Given the description of an element on the screen output the (x, y) to click on. 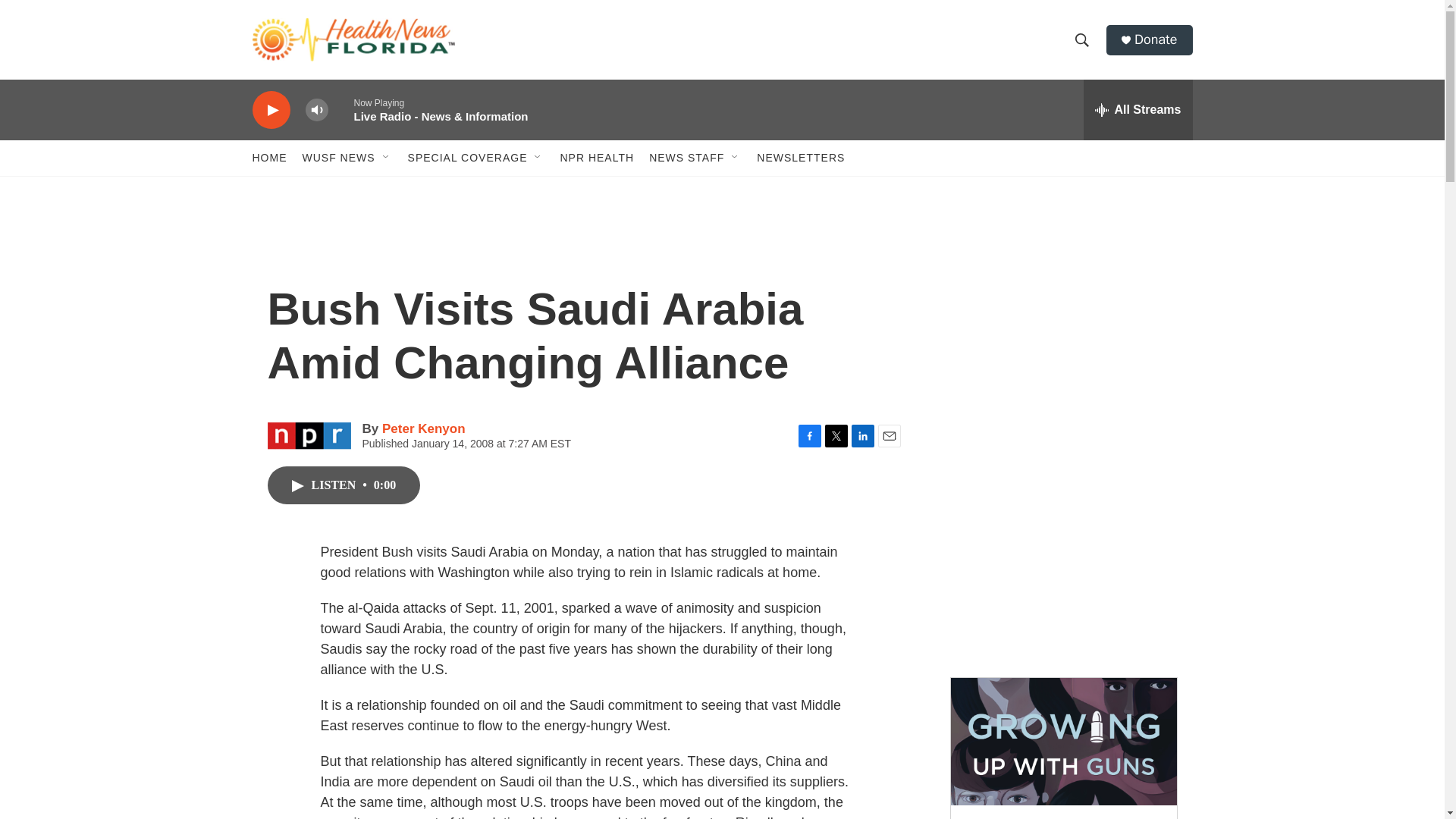
3rd party ad content (1062, 552)
3rd party ad content (1062, 331)
